Given the description of an element on the screen output the (x, y) to click on. 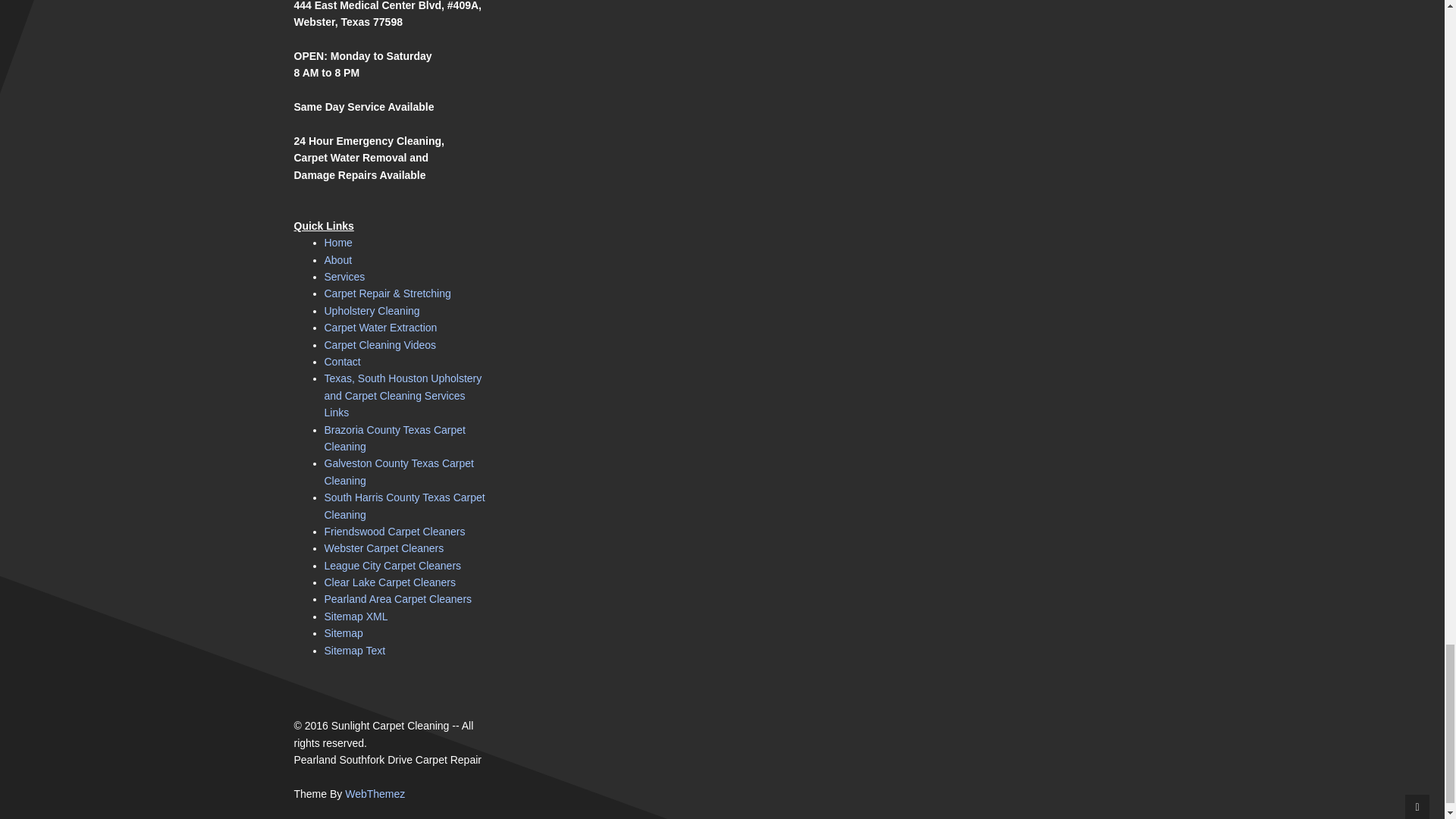
About (338, 259)
Upholstery Cleaning (372, 310)
Brazoria County Texas Carpet Cleaning (394, 438)
Clear Lake Carpet Cleaners (390, 582)
Home (338, 242)
League City Carpet Cleaners (392, 565)
Galveston County Texas Carpet Cleaning (399, 471)
Carpet Water Extraction (381, 327)
Webster Carpet Cleaners (384, 548)
